Given the description of an element on the screen output the (x, y) to click on. 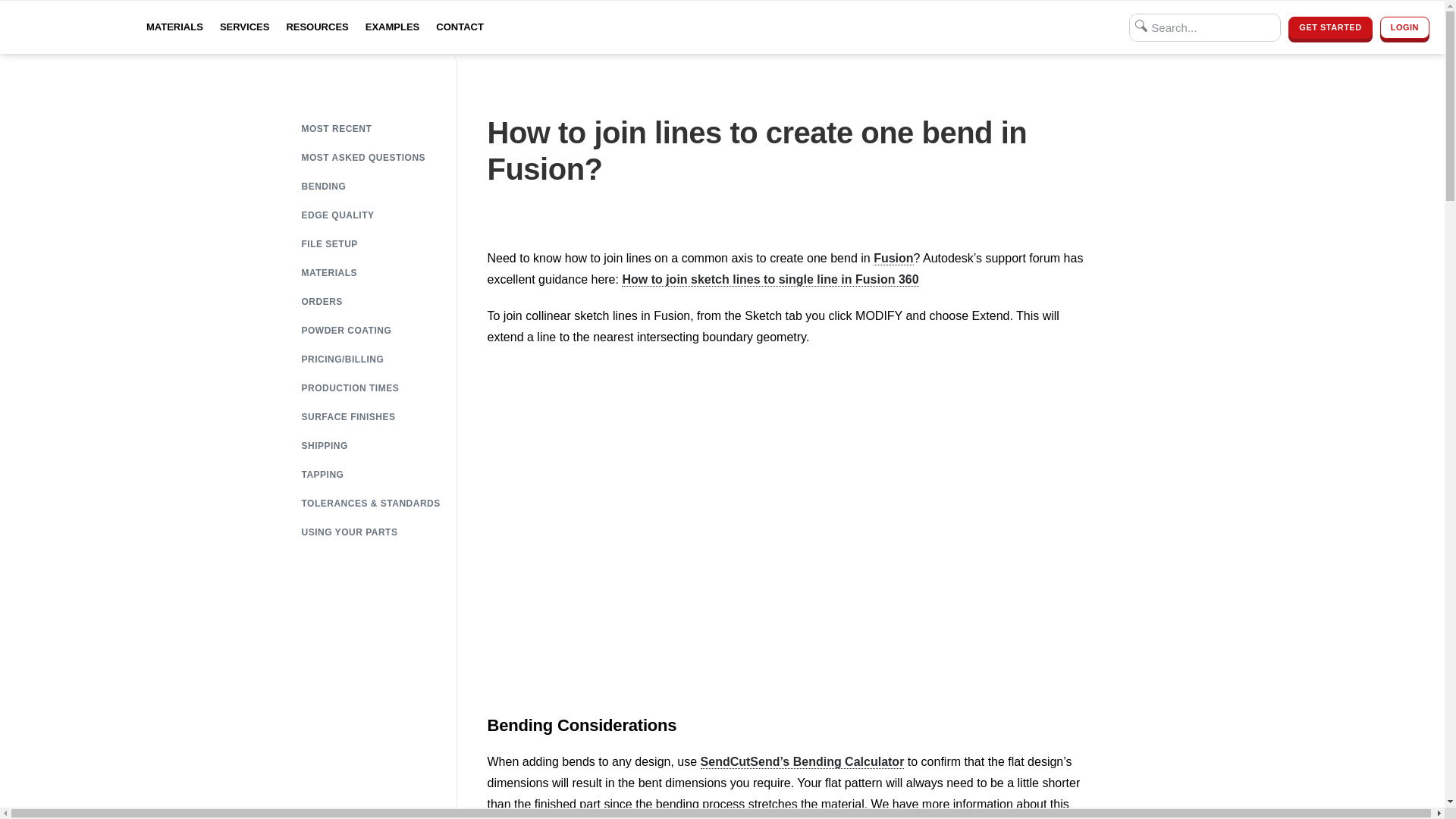
SERVICES (244, 27)
Search (1205, 27)
MATERIALS (175, 27)
